Given the description of an element on the screen output the (x, y) to click on. 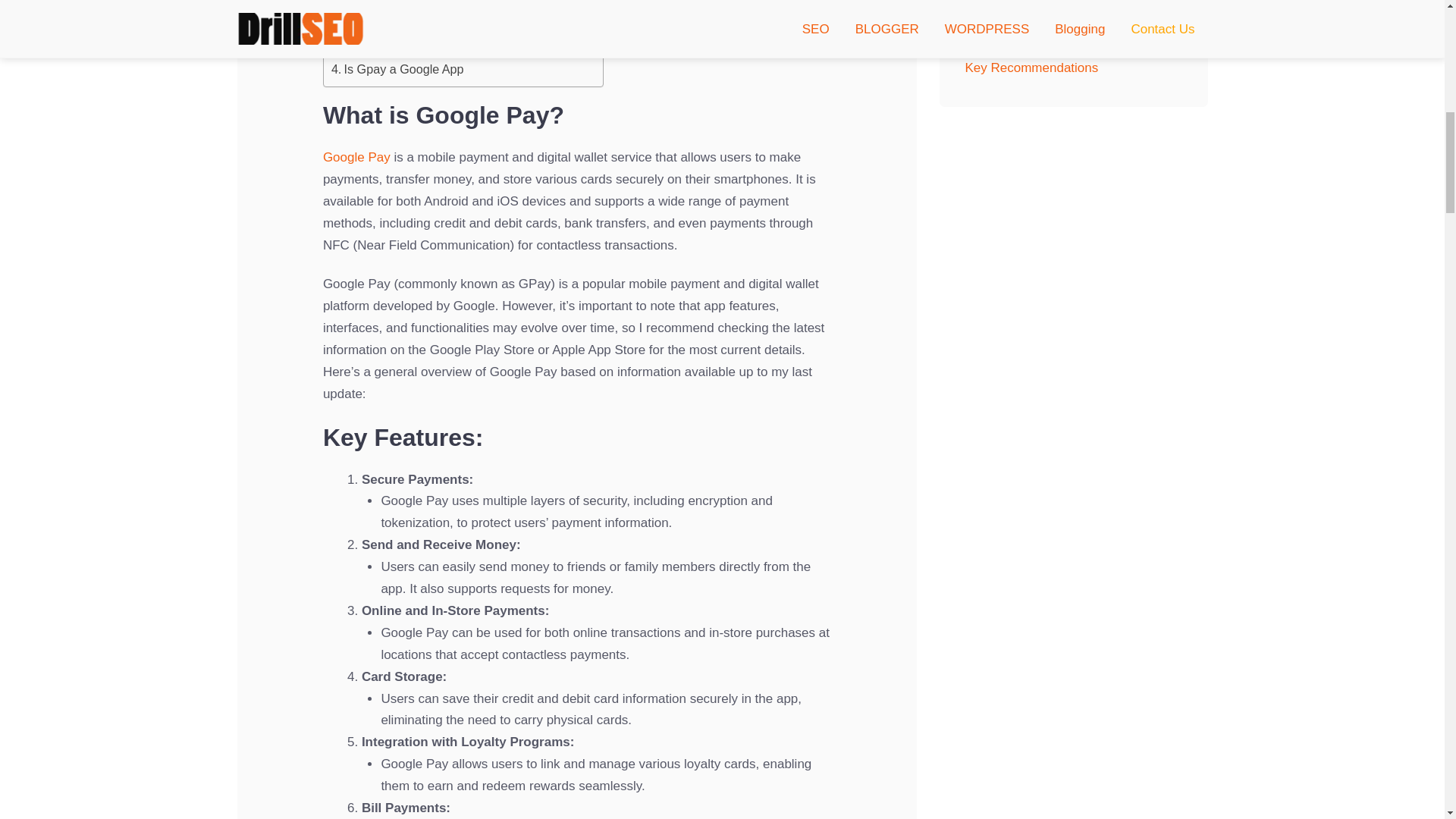
Set your Google PIN or screen lock (457, 16)
Link your bank account (430, 32)
Google Pay (356, 156)
Is Gpay a Google App (397, 69)
How To Add Referral Code in Gpay App (445, 49)
Link your bank account (430, 32)
How To Add Referral Code in Gpay App (445, 49)
Set your Google PIN or screen lock (457, 16)
Download GPay (415, 4)
Is Gpay a Google App (397, 69)
Download GPay (415, 4)
